Given the description of an element on the screen output the (x, y) to click on. 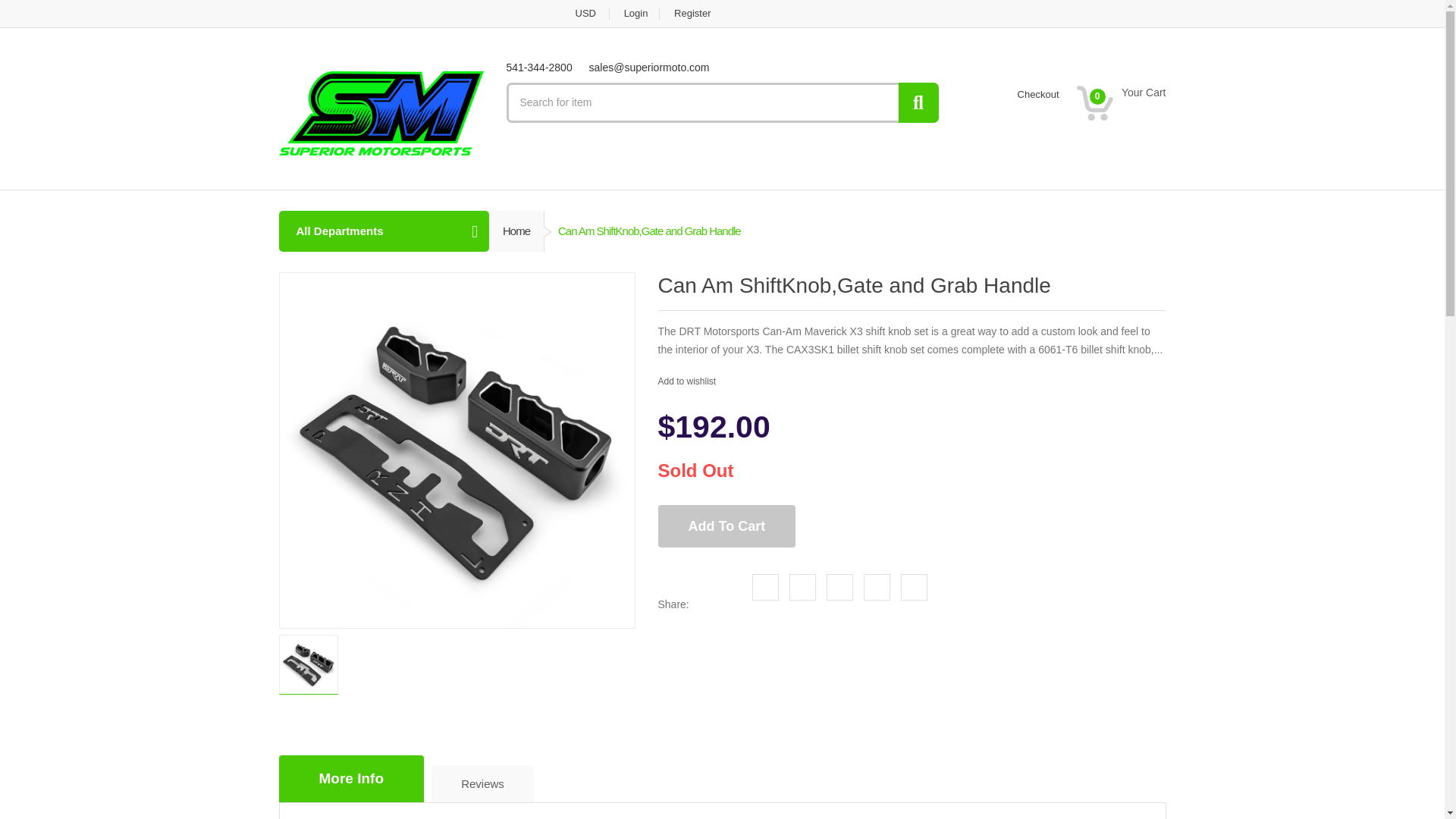
Twitter (802, 587)
Facebook (765, 587)
Google (840, 587)
Login (636, 13)
Superior Motorsport (381, 112)
Pinterest (876, 587)
cart (1120, 103)
Email (914, 587)
Add to wishlist (689, 381)
